Given the description of an element on the screen output the (x, y) to click on. 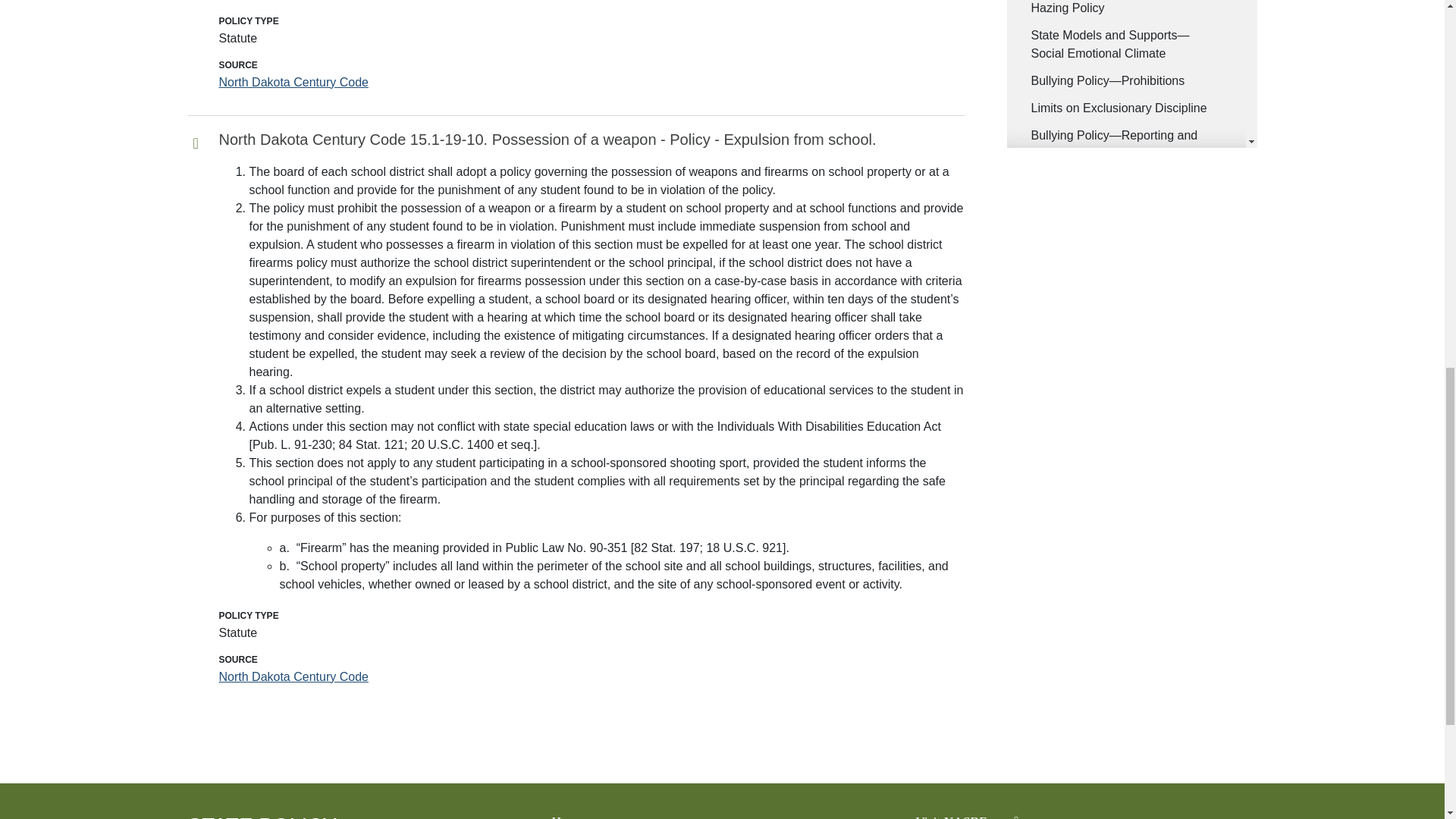
Kansas (1050, 7)
Home (261, 816)
North Dakota Century Code (293, 676)
Louisiana (1056, 62)
Kentucky (1055, 34)
North Dakota Century Code (293, 82)
